Given the description of an element on the screen output the (x, y) to click on. 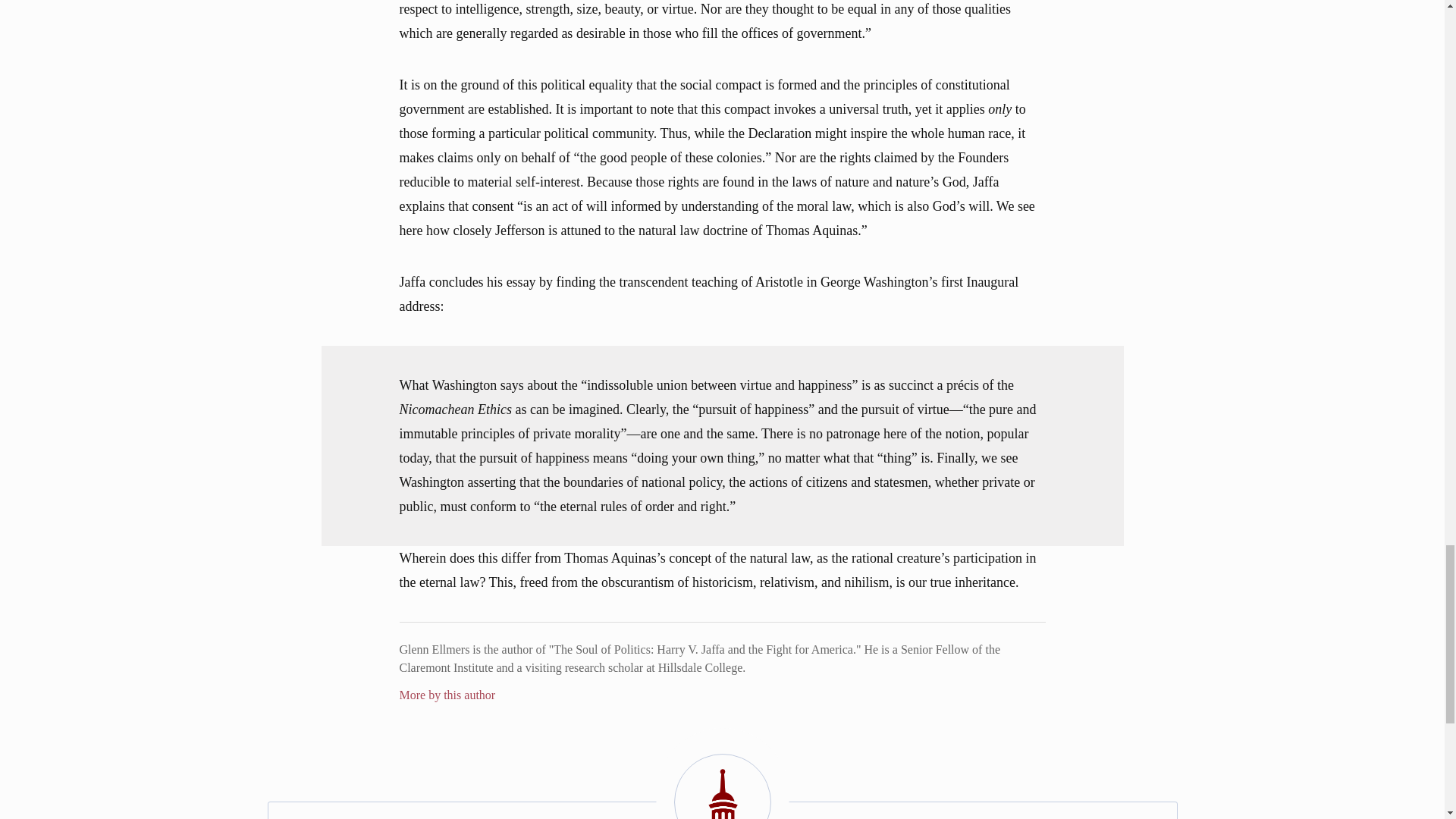
More by this author (446, 694)
